Given the description of an element on the screen output the (x, y) to click on. 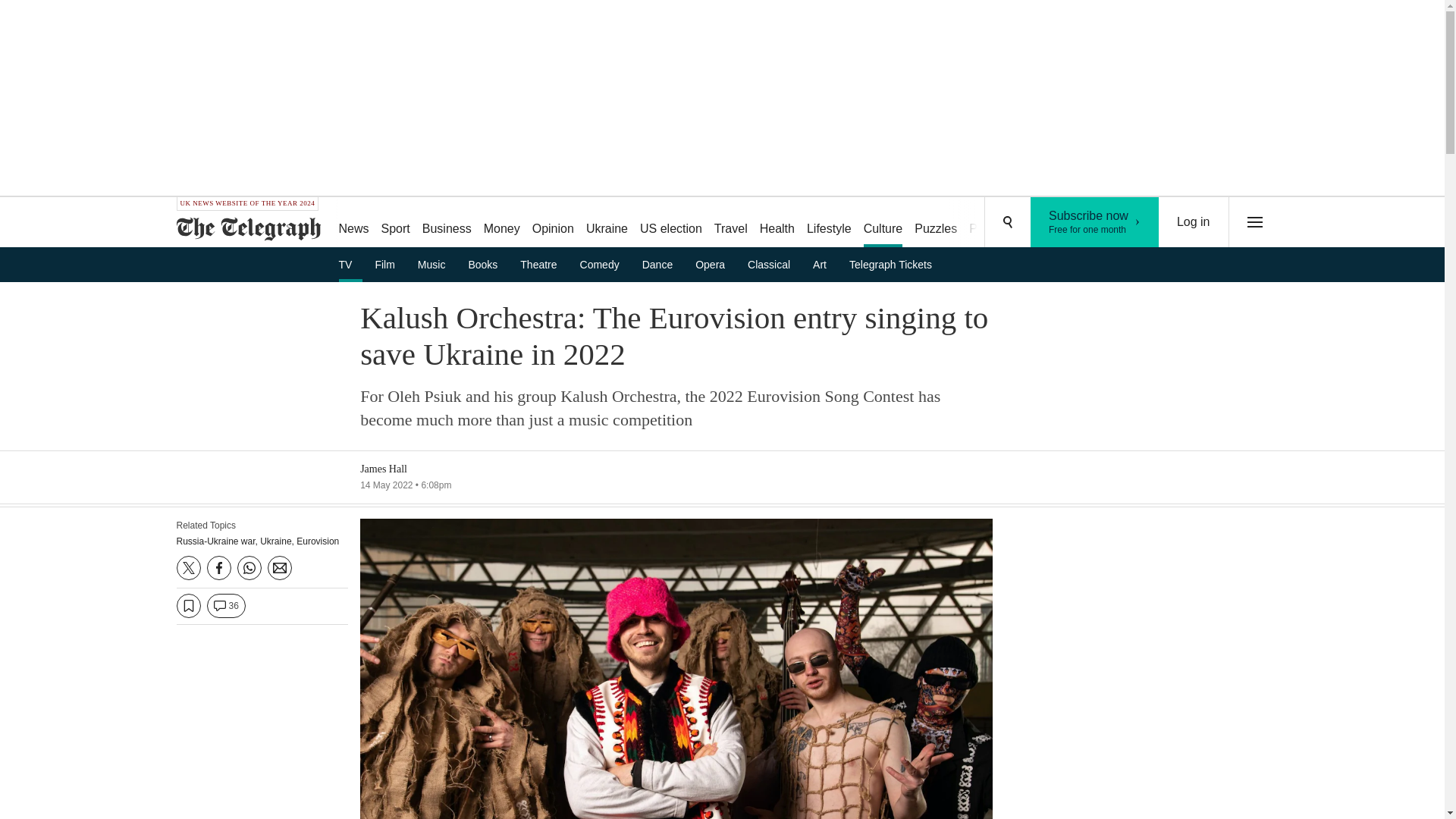
Log in (1193, 222)
US election (670, 223)
Lifestyle (828, 223)
Travel (730, 223)
Opinion (1094, 222)
Film (552, 223)
Puzzles (389, 264)
Books (935, 223)
Health (487, 264)
